Given the description of an element on the screen output the (x, y) to click on. 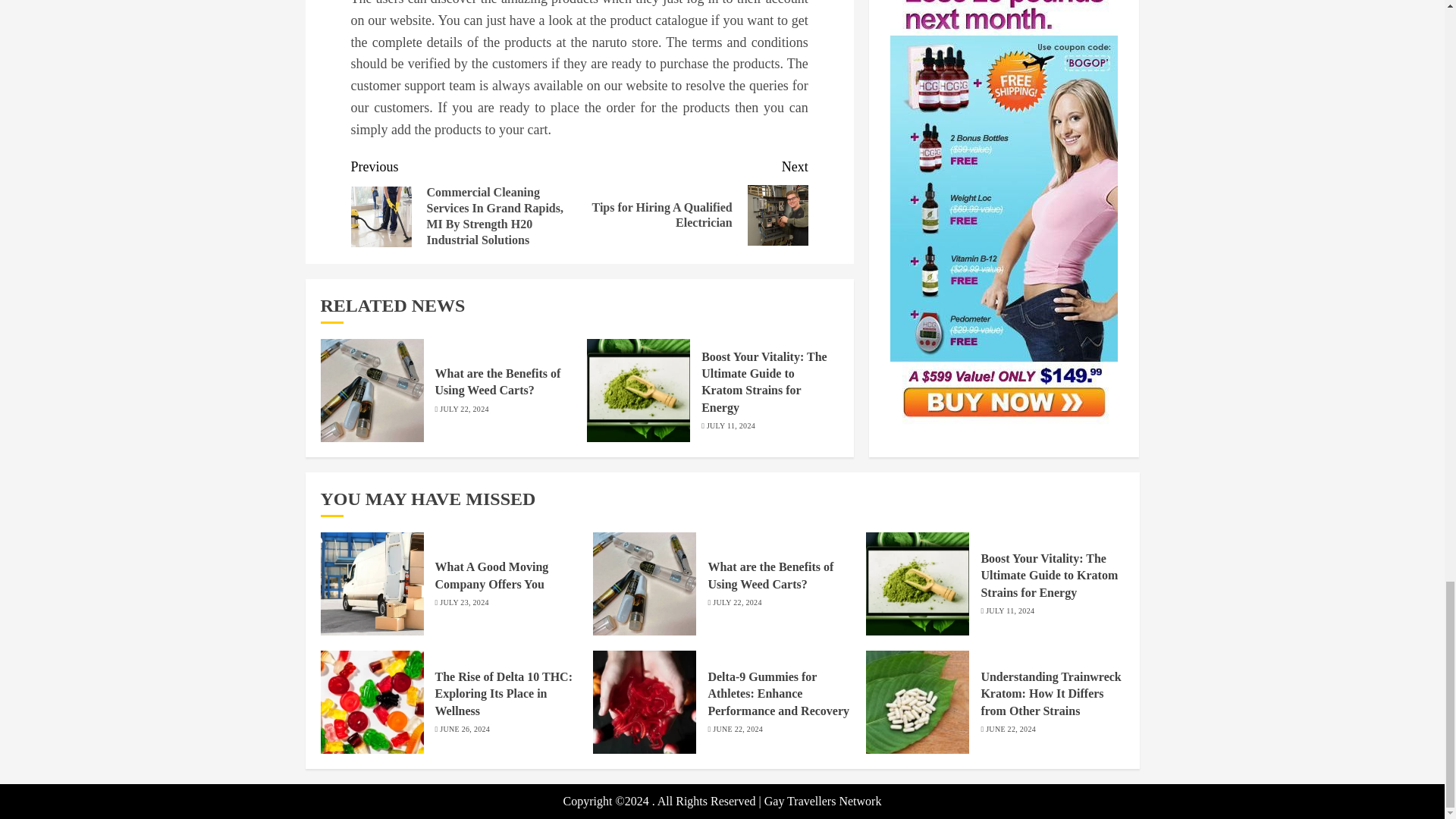
JULY 23, 2024 (463, 602)
JULY 22, 2024 (737, 602)
What are the Benefits of Using Weed Carts? (693, 201)
What are the Benefits of Using Weed Carts? (769, 575)
JULY 22, 2024 (497, 381)
JULY 11, 2024 (463, 409)
What A Good Moving Company Offers You (730, 425)
